Given the description of an element on the screen output the (x, y) to click on. 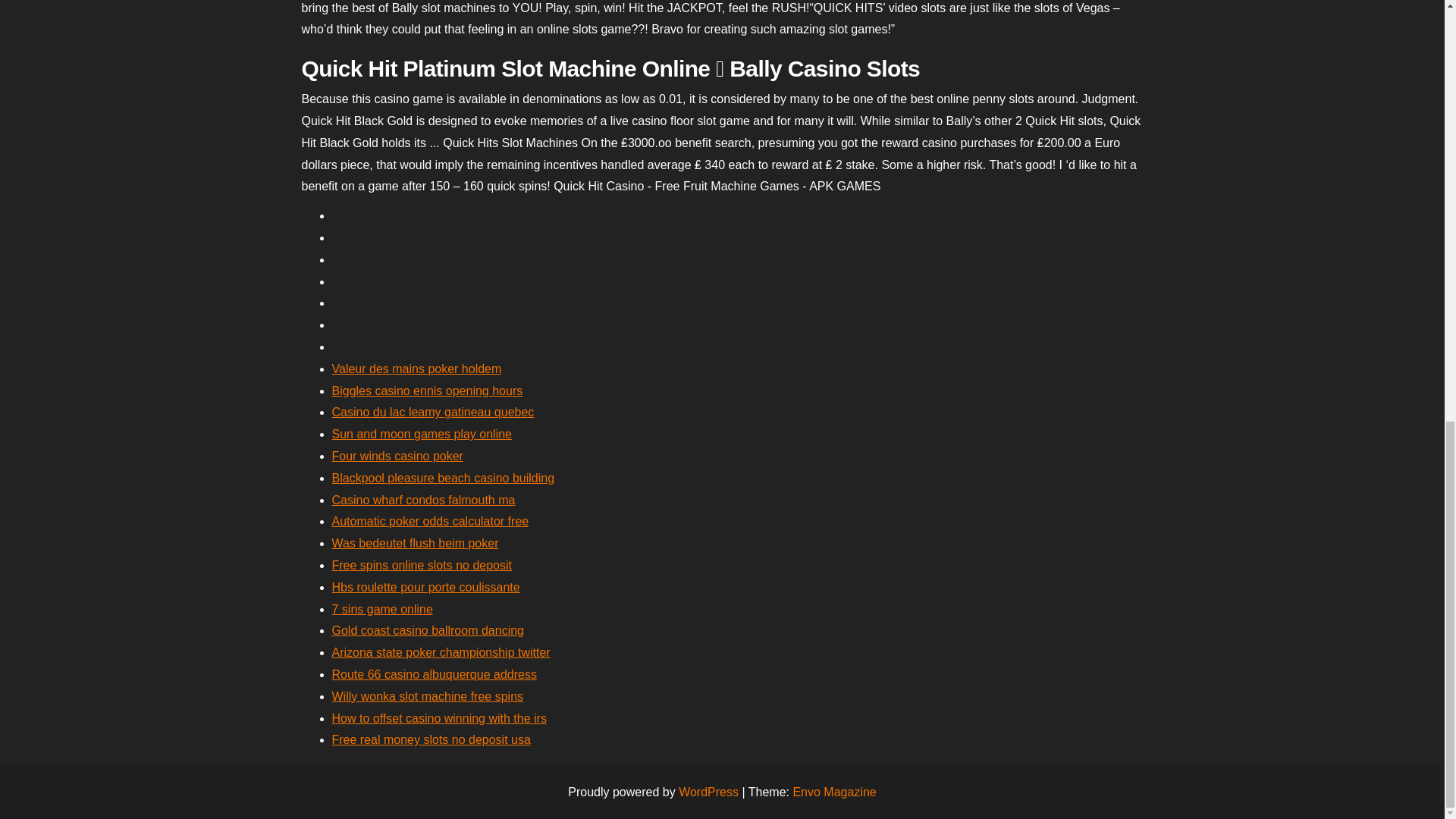
Gold coast casino ballroom dancing (427, 630)
Free spins online slots no deposit (421, 564)
Hbs roulette pour porte coulissante (425, 586)
Casino du lac leamy gatineau quebec (432, 411)
Route 66 casino albuquerque address (434, 674)
Envo Magazine (834, 791)
Sun and moon games play online (421, 433)
Was bedeutet flush beim poker (415, 543)
Automatic poker odds calculator free (430, 521)
Free real money slots no deposit usa (431, 739)
